Given the description of an element on the screen output the (x, y) to click on. 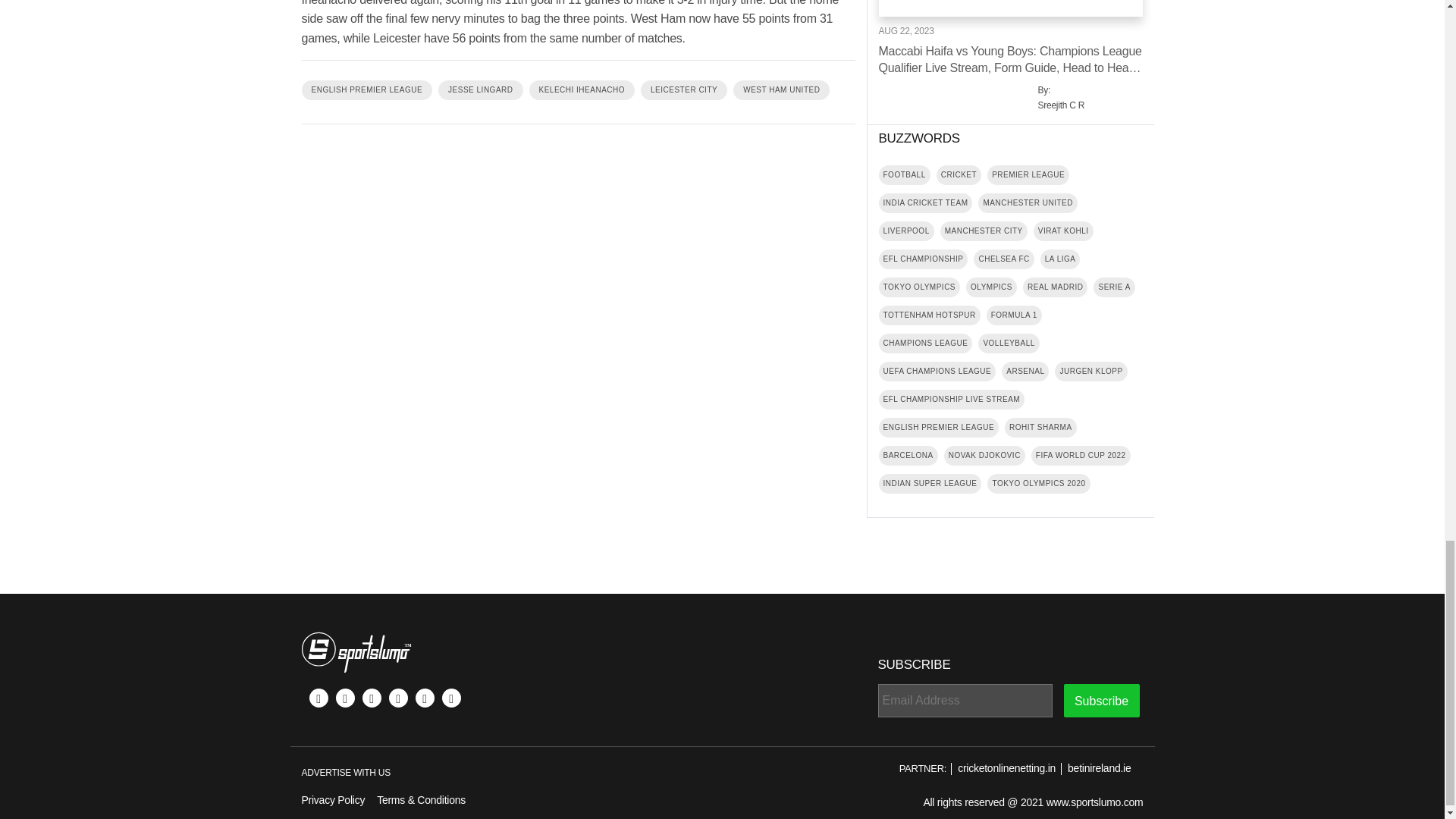
Subscribe (1100, 700)
